Given the description of an element on the screen output the (x, y) to click on. 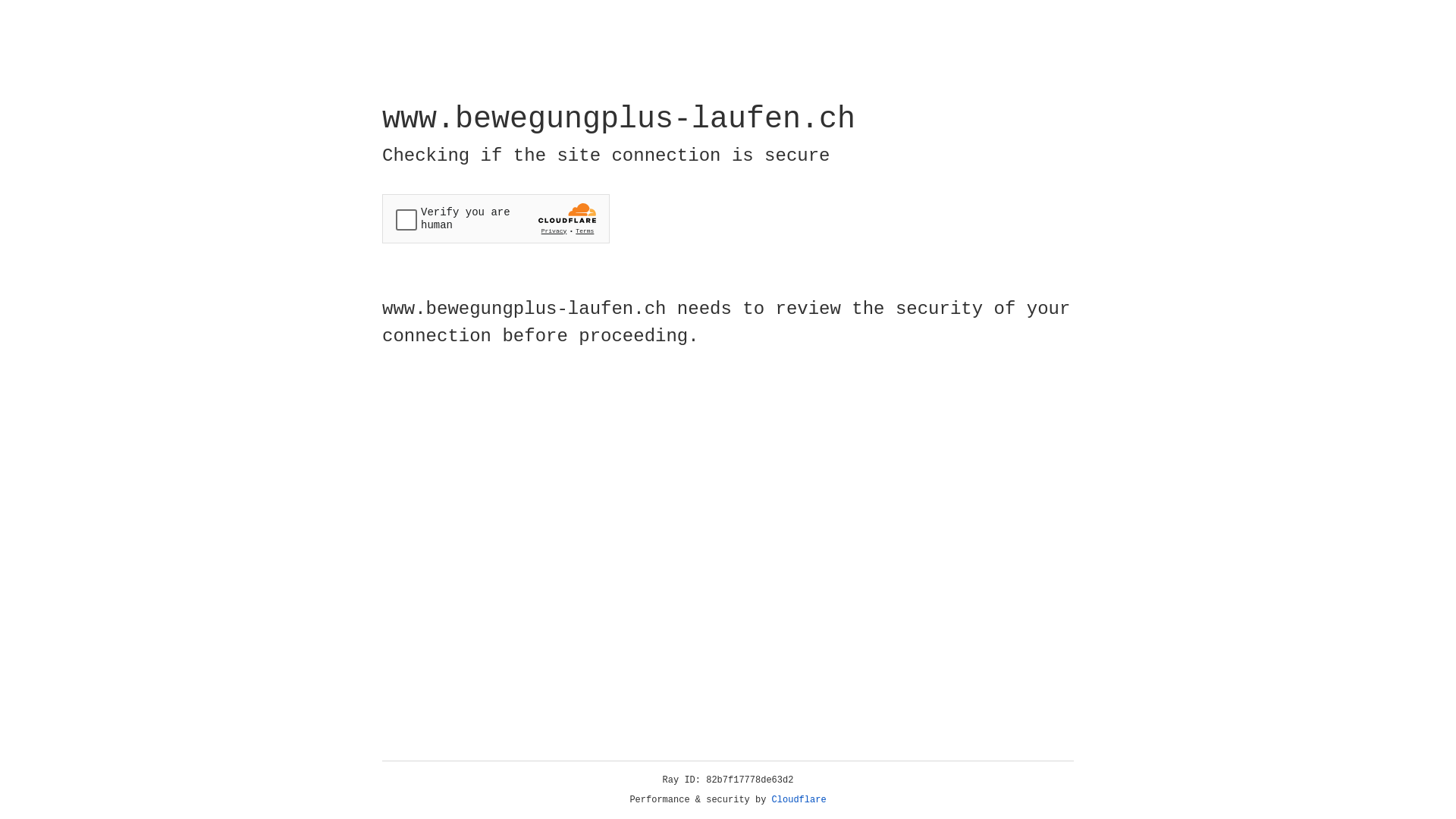
Widget containing a Cloudflare security challenge Element type: hover (495, 218)
Cloudflare Element type: text (798, 799)
